Given the description of an element on the screen output the (x, y) to click on. 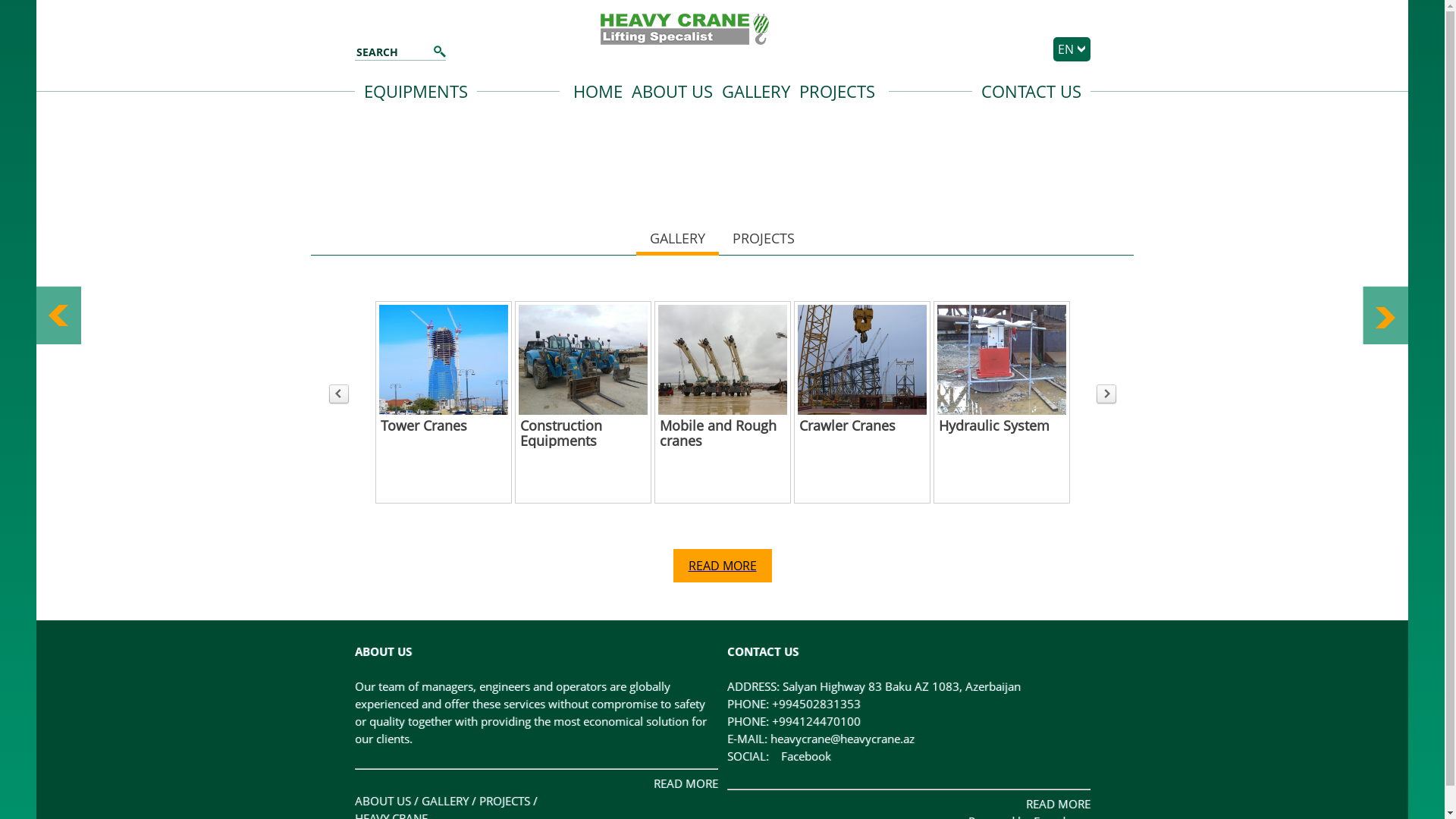
Facebook Element type: text (783, 755)
about_us Element type: hover (443, 359)
GALLERY Element type: text (444, 800)
PROJECTS Element type: text (504, 800)
about_us Element type: hover (1001, 359)
about_us Element type: hover (582, 359)
about_us Element type: hover (861, 359)
CONTACT US Element type: text (1031, 91)
about_us Element type: hover (722, 359)
EQUIPMENTS Element type: text (415, 91)
ABOUT US Element type: text (382, 800)
READ MORE Element type: text (722, 565)
EN Element type: text (1066, 48)
